Given the description of an element on the screen output the (x, y) to click on. 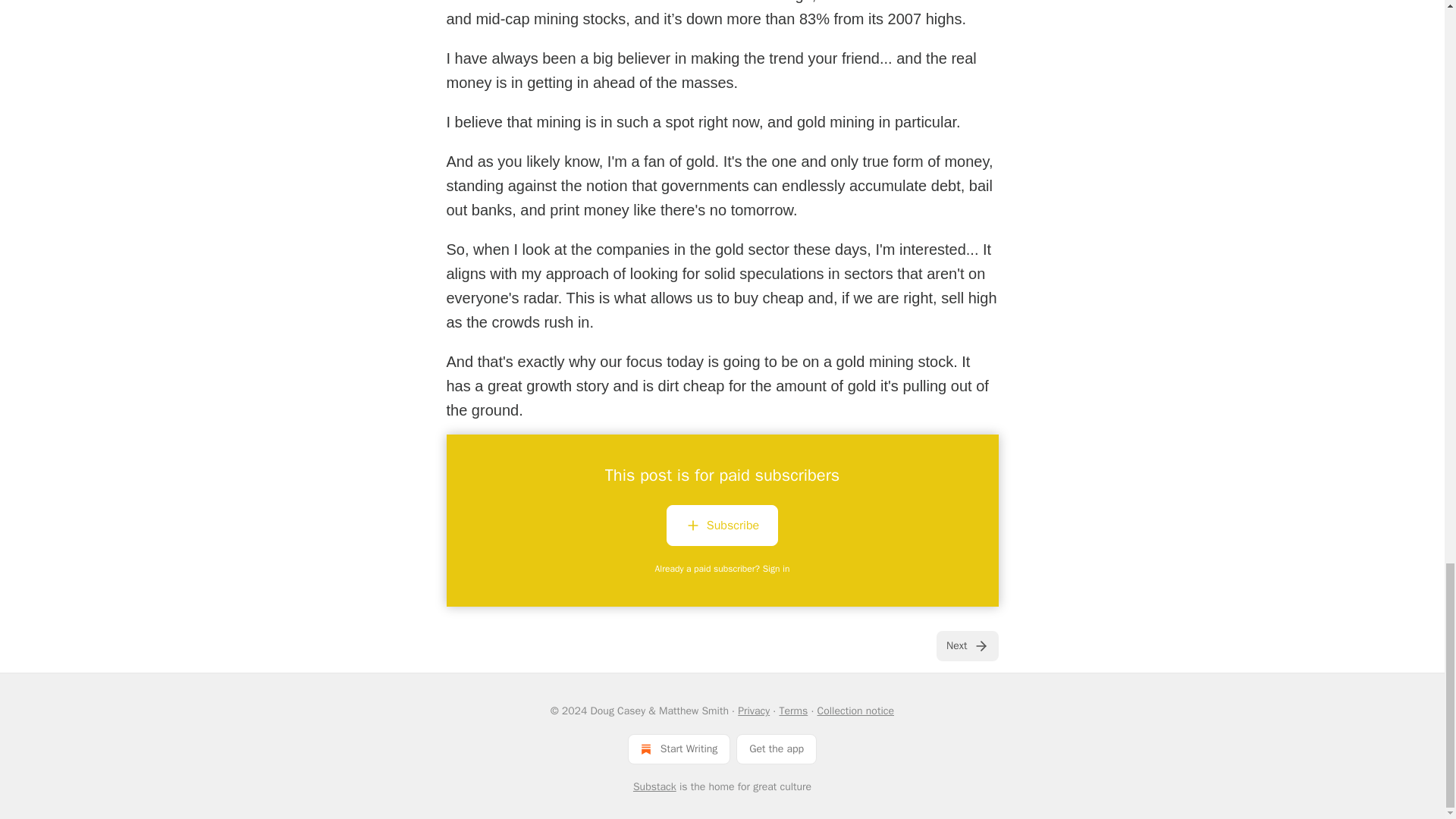
Terms (793, 710)
Collection notice (854, 710)
Already a paid subscriber? Sign in (722, 568)
Get the app (776, 748)
Substack (655, 786)
Privacy (754, 710)
Next (966, 645)
Subscribe (721, 527)
Start Writing (678, 748)
Subscribe (721, 525)
